Given the description of an element on the screen output the (x, y) to click on. 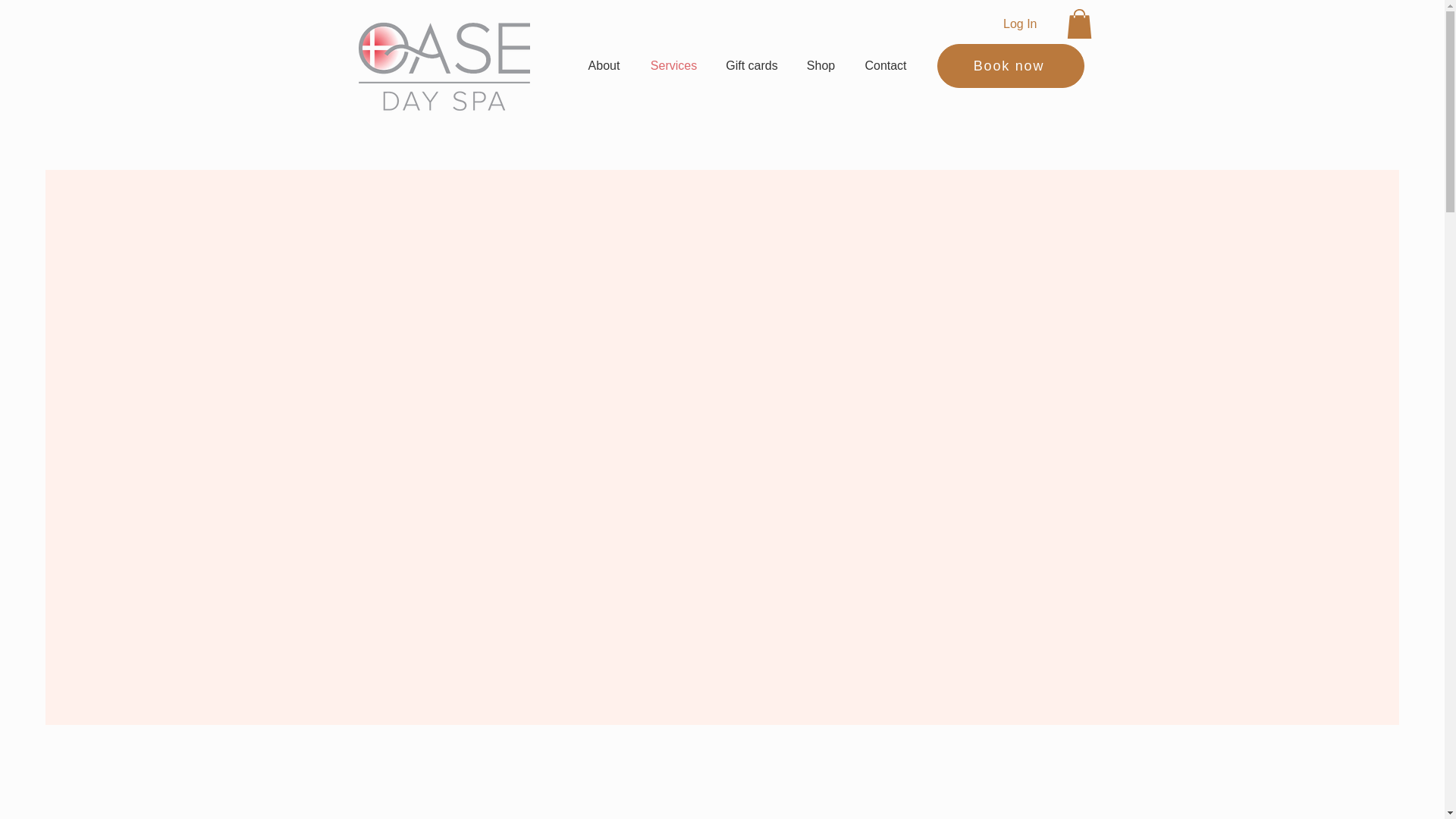
Shop (820, 65)
Services (672, 65)
About (603, 65)
Gift cards (751, 65)
Contact (884, 65)
Log In (1019, 23)
Book now (1010, 65)
